Given the description of an element on the screen output the (x, y) to click on. 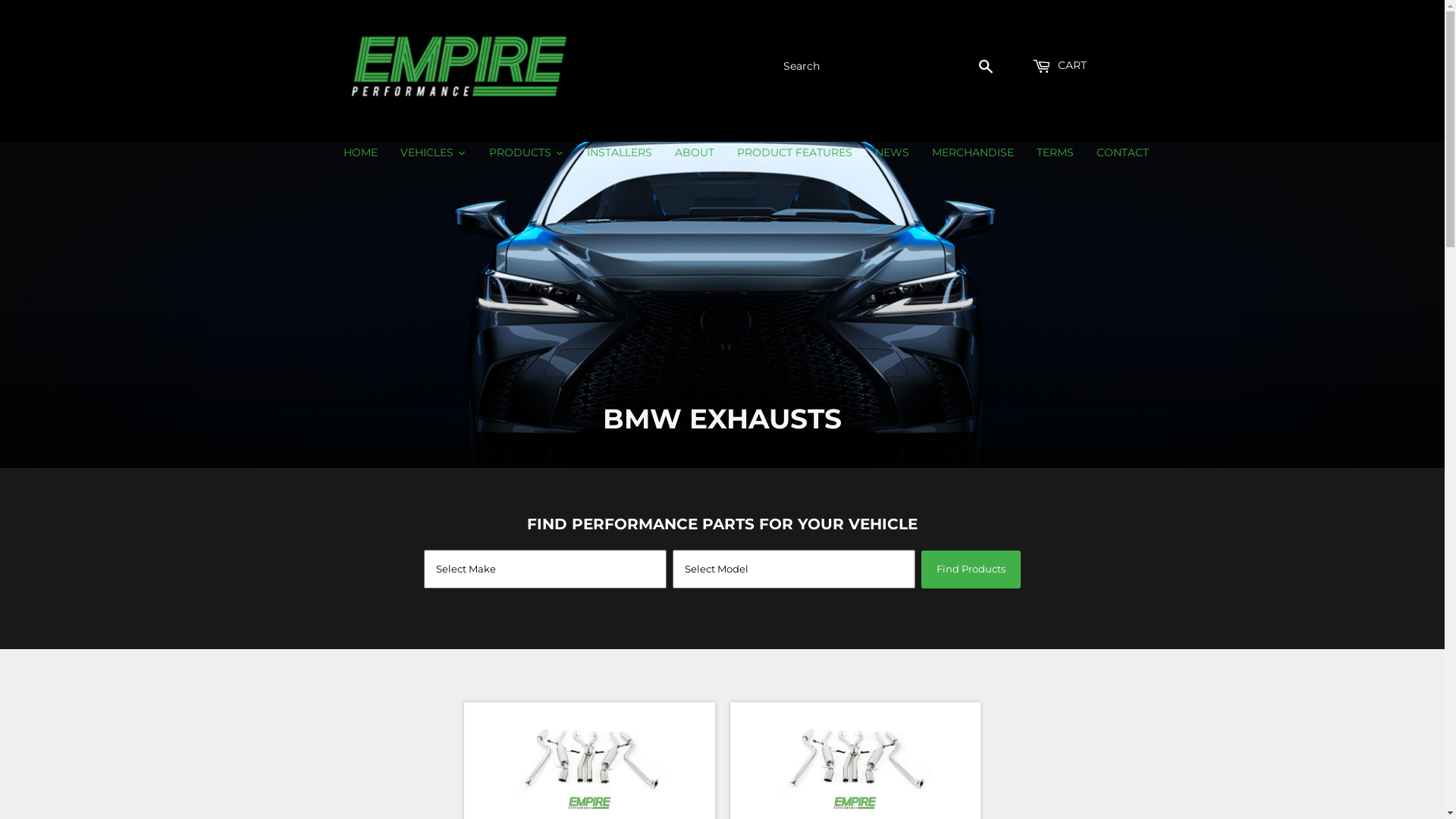
TERMS Element type: text (1055, 152)
PRODUCTS Element type: text (526, 152)
MERCHANDISE Element type: text (972, 152)
CONTACT Element type: text (1121, 152)
CART Element type: text (1058, 65)
PRODUCT FEATURES Element type: text (793, 152)
ABOUT Element type: text (693, 152)
Find Products Element type: text (970, 569)
INSTALLERS Element type: text (618, 152)
VEHICLES Element type: text (432, 152)
NEWS Element type: text (890, 152)
Search Element type: text (986, 66)
HOME Element type: text (360, 152)
